Given the description of an element on the screen output the (x, y) to click on. 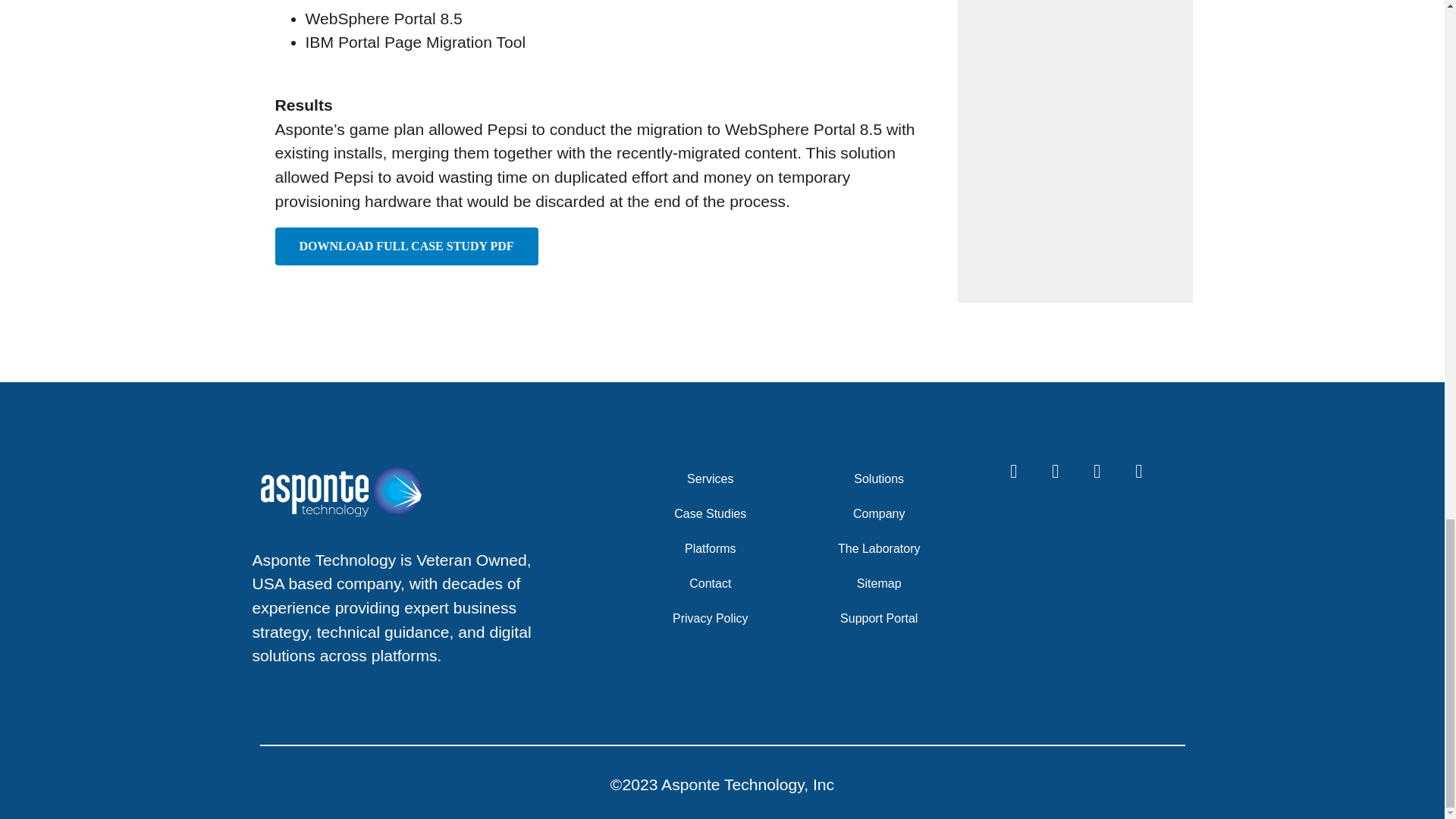
Case Studies (716, 513)
Company (887, 513)
DOWNLOAD FULL CASE STUDY PDF (406, 246)
Platforms (716, 548)
Services (716, 478)
Solutions (887, 478)
